Given the description of an element on the screen output the (x, y) to click on. 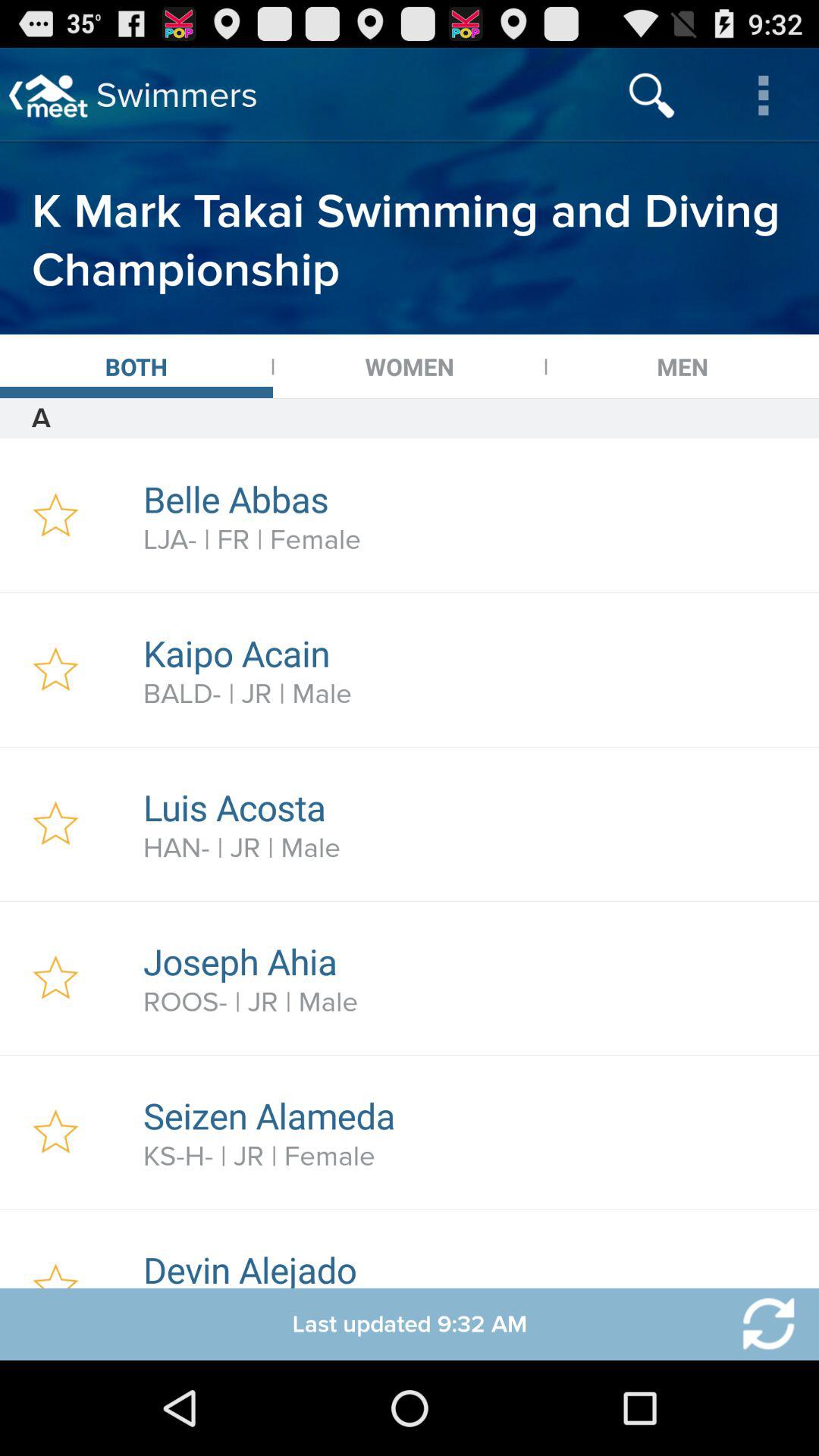
select icon below the lja- | fr | female (473, 653)
